Given the description of an element on the screen output the (x, y) to click on. 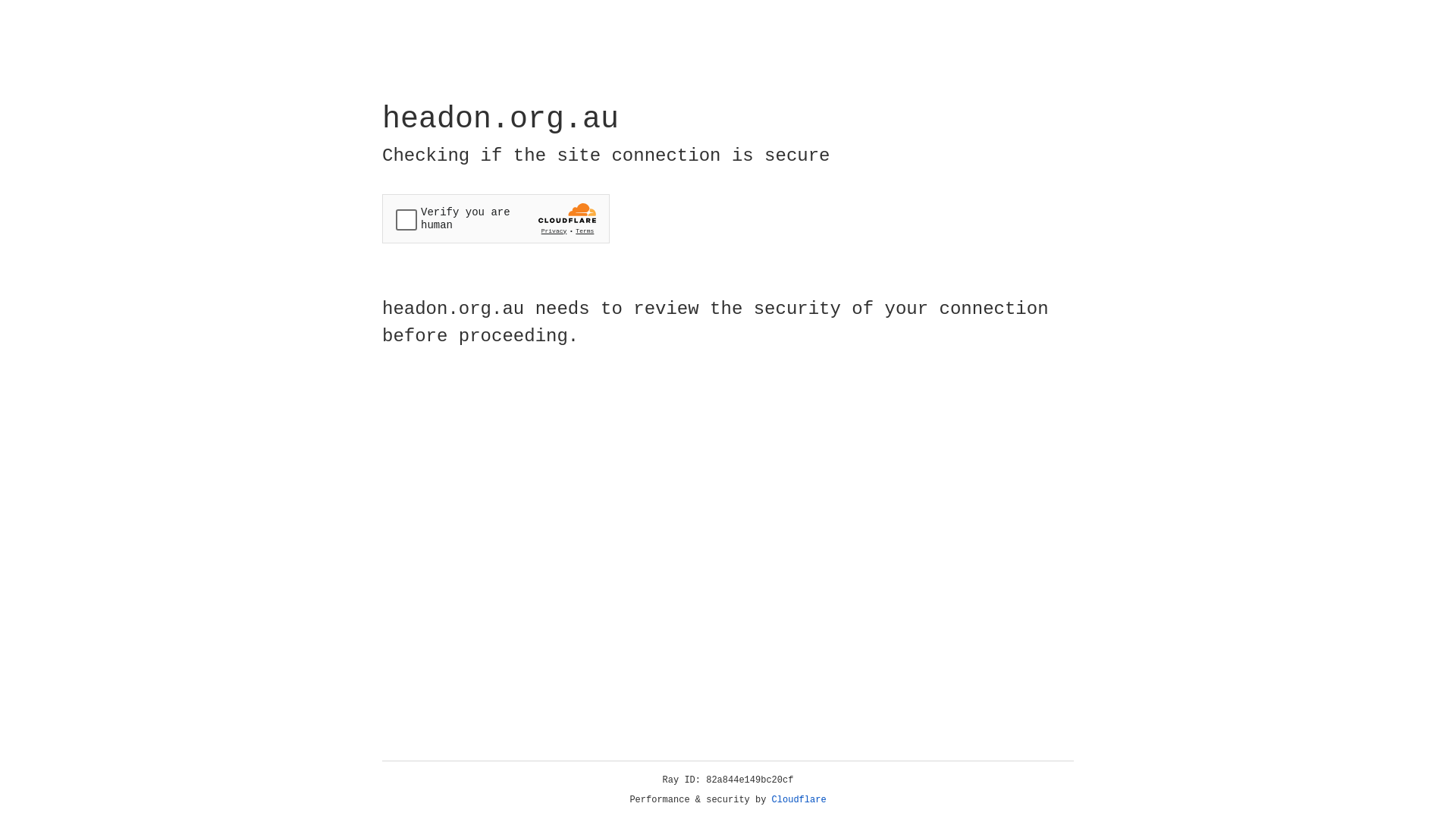
Widget containing a Cloudflare security challenge Element type: hover (495, 218)
Cloudflare Element type: text (798, 799)
